Given the description of an element on the screen output the (x, y) to click on. 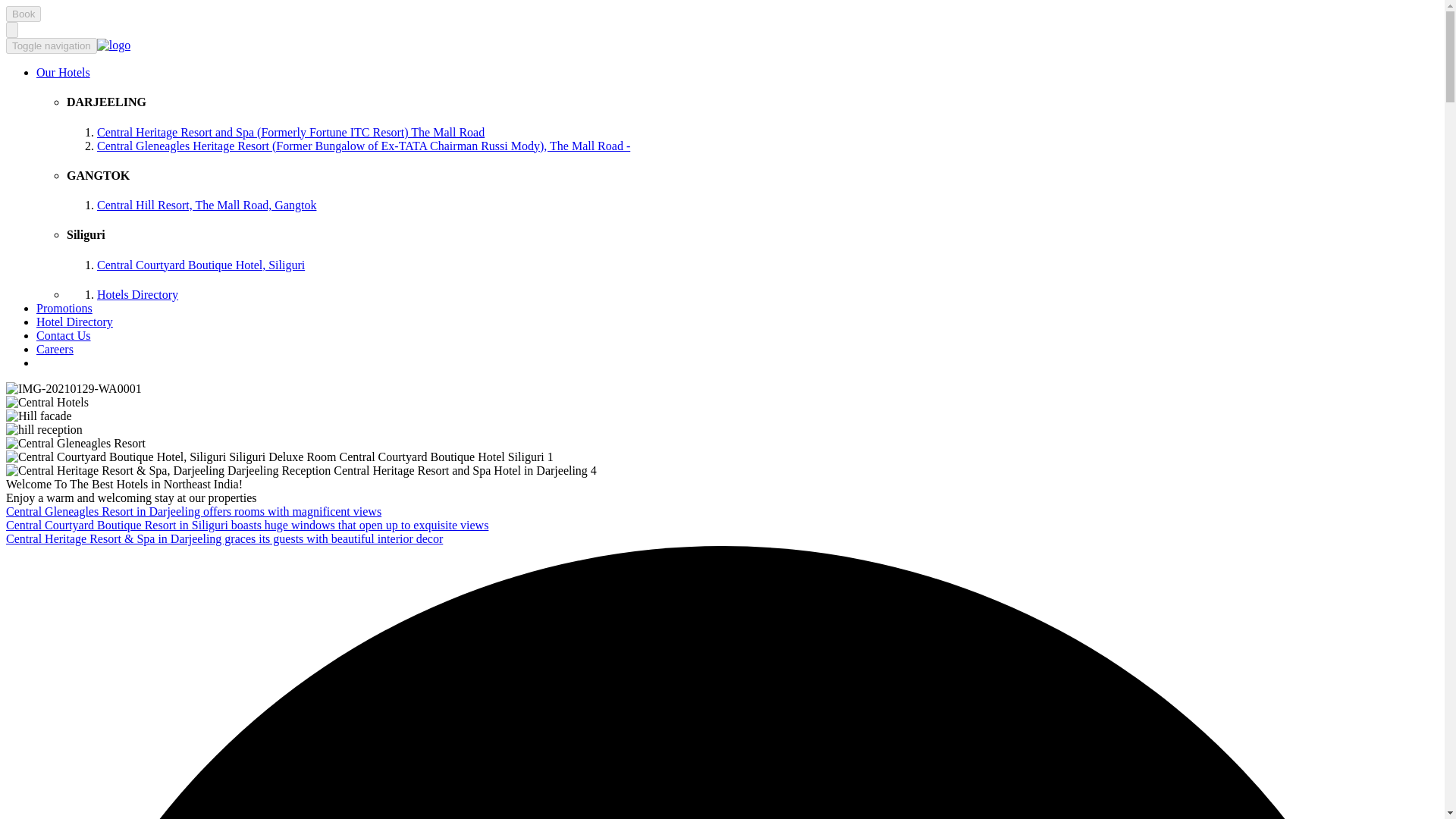
Hotel Directory (74, 321)
Book (22, 13)
Contact Us (63, 335)
Our Hotels (63, 72)
Careers (55, 349)
Promotions (64, 308)
Central Hill Resort, The Mall Road, Gangtok (206, 205)
Central Courtyard Boutique Hotel, Siliguri (200, 264)
Toggle navigation (51, 45)
Hotels Directory (137, 294)
